Given the description of an element on the screen output the (x, y) to click on. 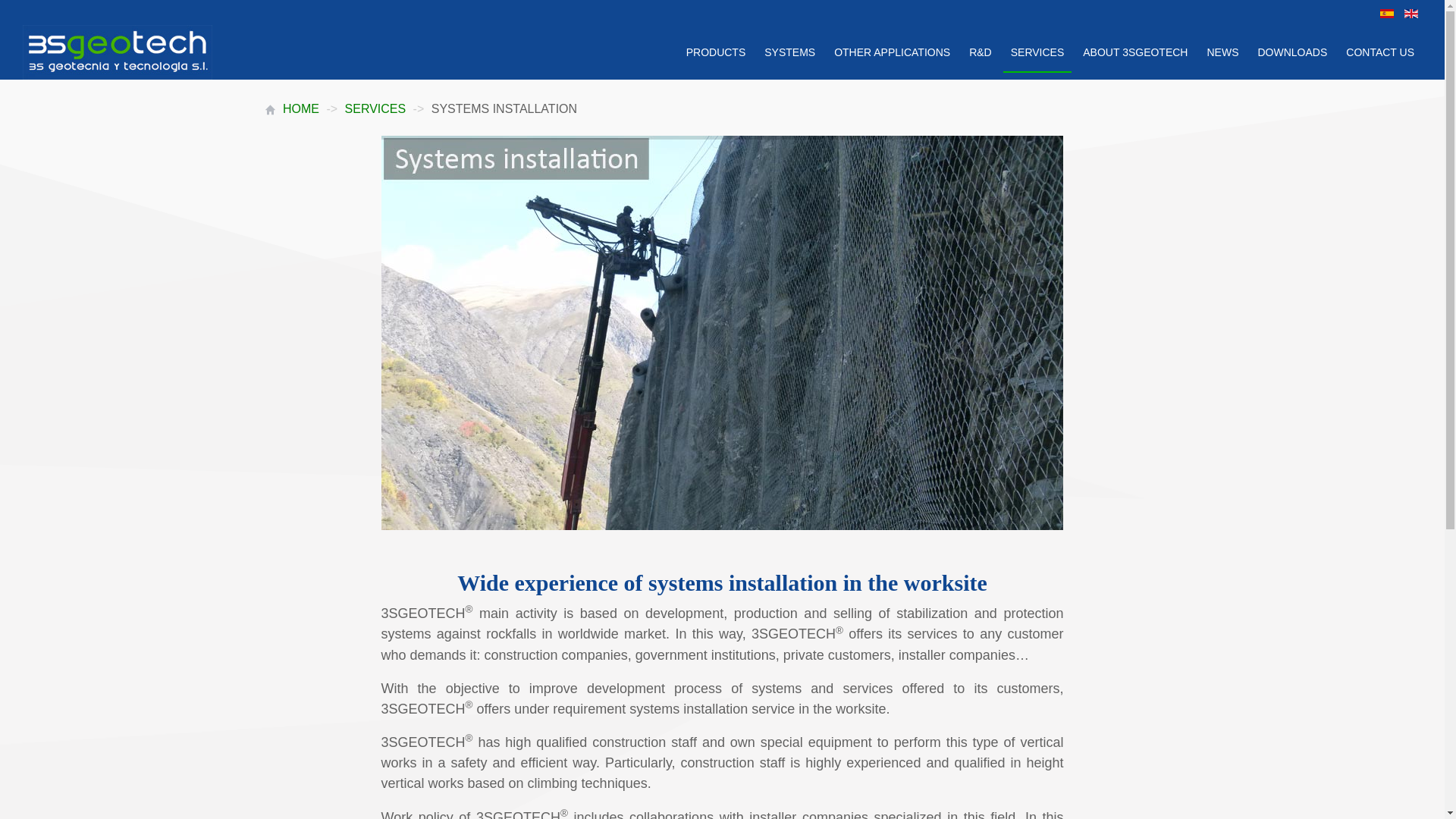
SERVICES Element type: text (375, 108)
DOWNLOADS Element type: text (1291, 52)
HOME Element type: text (300, 108)
CONTACT US Element type: text (1379, 52)
PRODUCTS Element type: text (715, 52)
SERVICES Element type: text (1037, 52)
R&D Element type: text (980, 52)
ABOUT 3SGEOTECH Element type: text (1135, 52)
NEWS Element type: text (1221, 52)
SYSTEMS Element type: text (789, 52)
OTHER APPLICATIONS Element type: text (891, 52)
English (UK) Element type: hover (1411, 13)
